Given the description of an element on the screen output the (x, y) to click on. 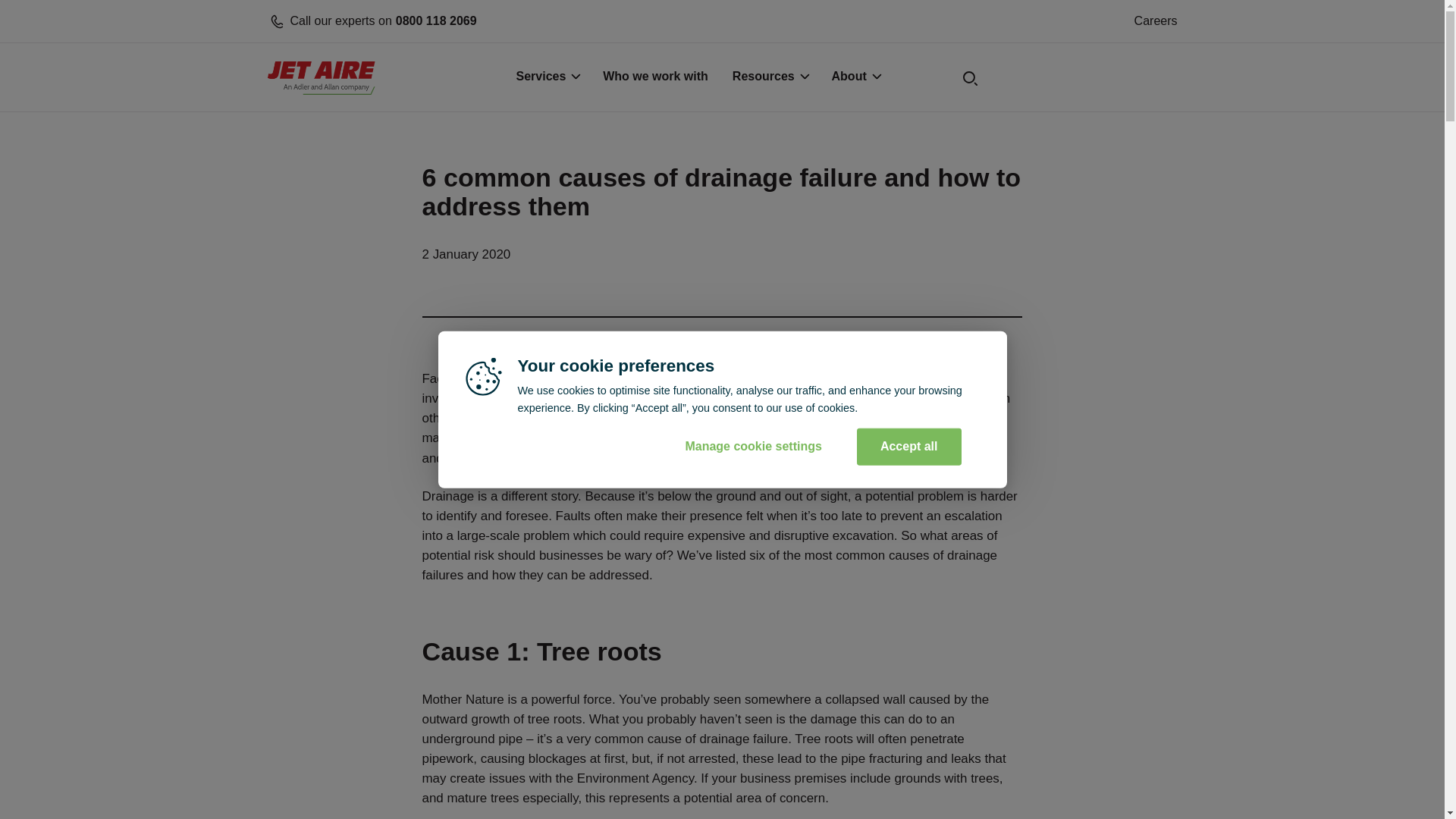
CONTACT OUR EXPERTS (1087, 78)
Who we work with (654, 78)
SEARCH (917, 82)
Resources (770, 78)
Services (488, 20)
Careers (546, 78)
About (1155, 21)
Accept all (855, 78)
Manage cookie settings (908, 446)
